Given the description of an element on the screen output the (x, y) to click on. 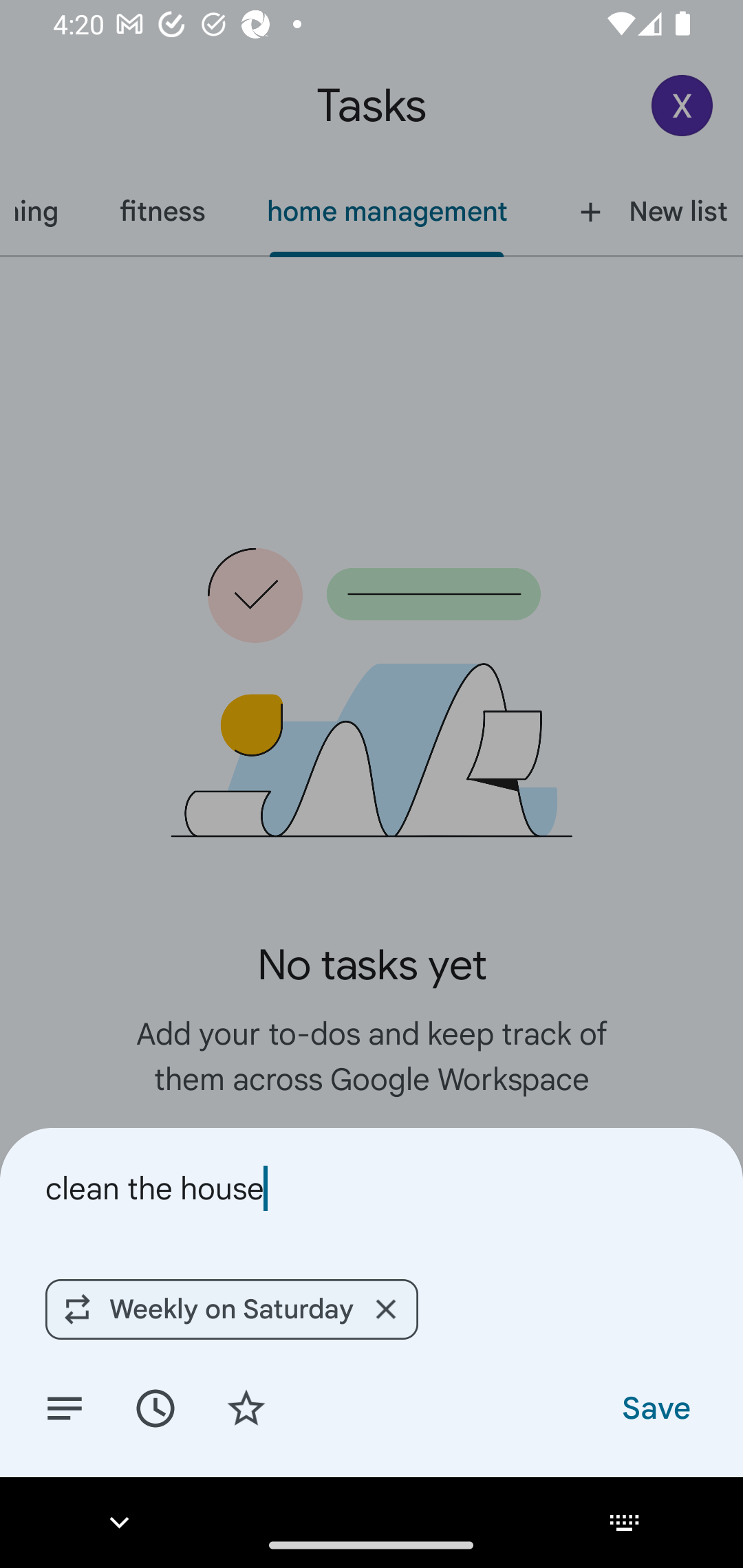
clean the house (371, 1188)
Weekly on Saturday Remove Weekly on Saturday (231, 1308)
Save (655, 1407)
Add details (64, 1407)
Set date/time (154, 1407)
Add star (245, 1407)
